Given the description of an element on the screen output the (x, y) to click on. 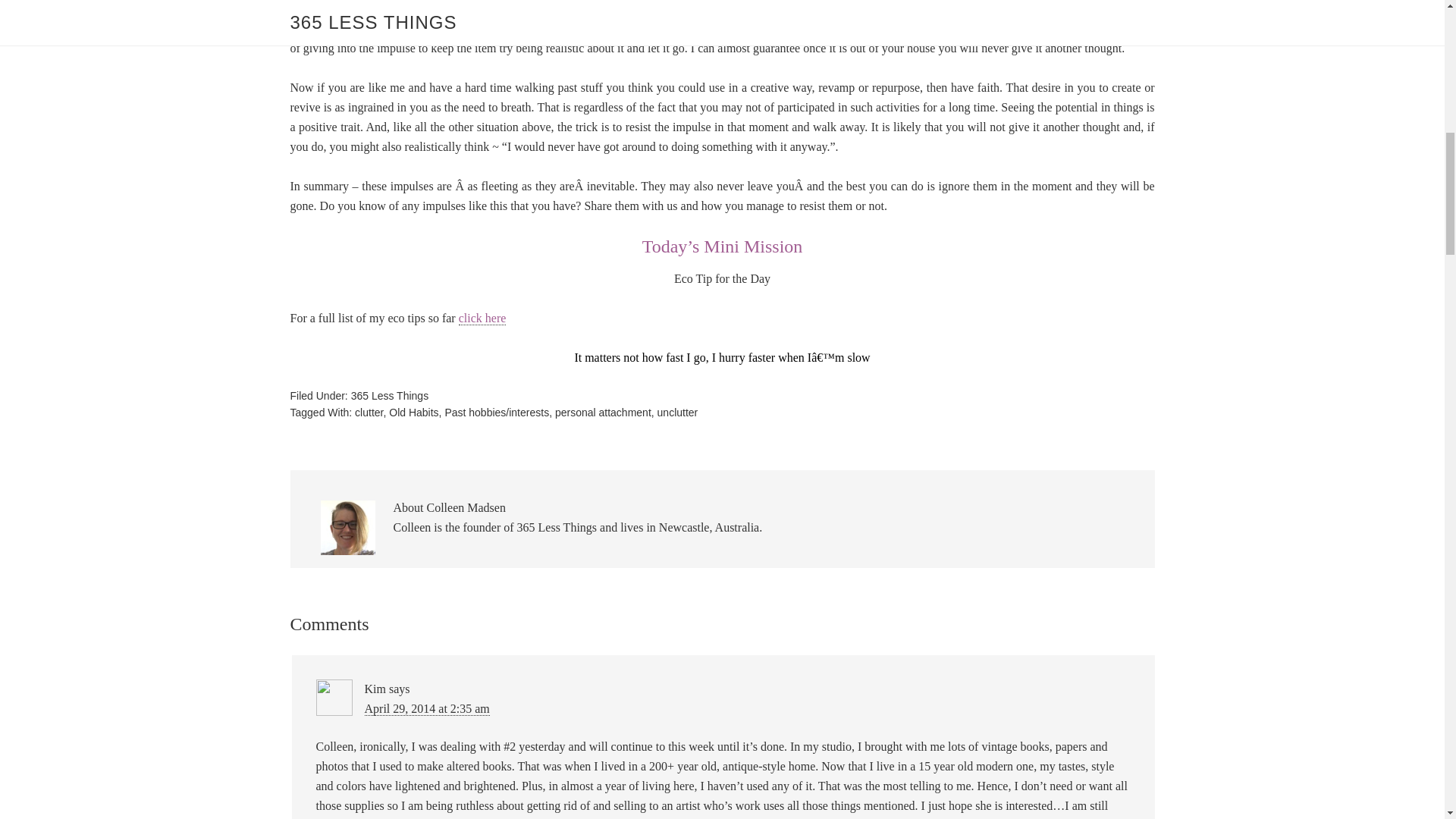
April 29, 2014 at 2:35 am (426, 708)
click here (482, 318)
unclutter (678, 412)
Old Habits (413, 412)
365 Less Things (389, 395)
clutter (368, 412)
personal attachment (602, 412)
